Given the description of an element on the screen output the (x, y) to click on. 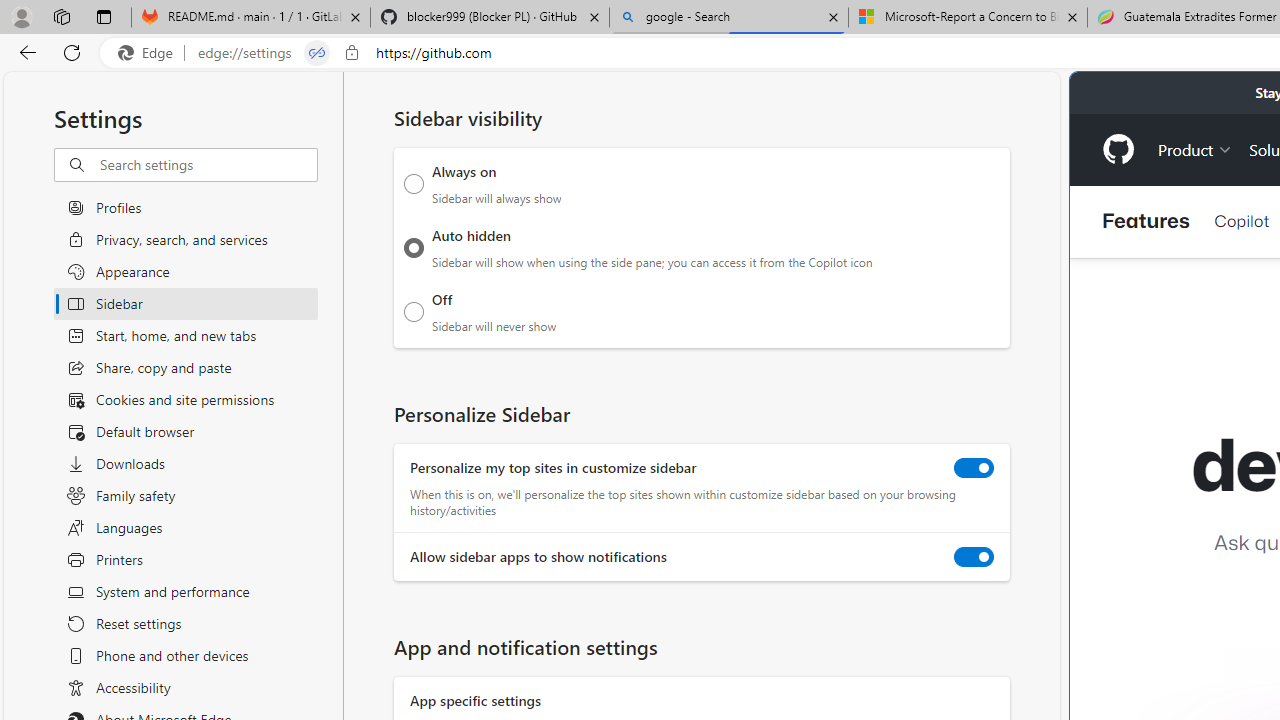
Off Sidebar will never show (413, 311)
Personalize my top sites in customize sidebar (973, 467)
Search settings (207, 165)
